Given the description of an element on the screen output the (x, y) to click on. 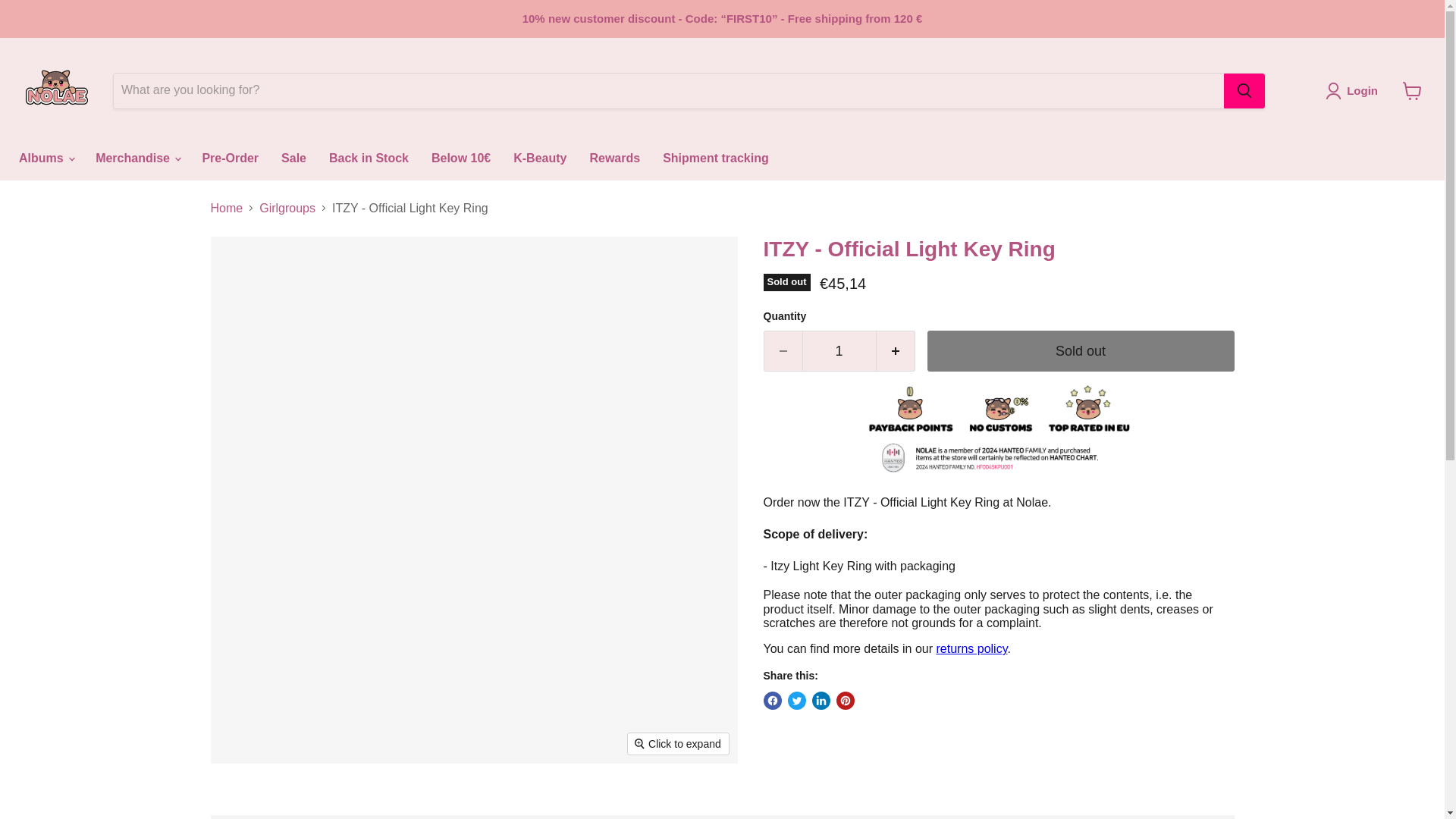
K-Beauty (540, 158)
Login (1354, 90)
Back in Stock (368, 158)
Rewards (614, 158)
Pre-Order (229, 158)
Sale (293, 158)
View cart (1411, 90)
Refund Policy (971, 648)
Shipment tracking (715, 158)
1 (839, 351)
